Given the description of an element on the screen output the (x, y) to click on. 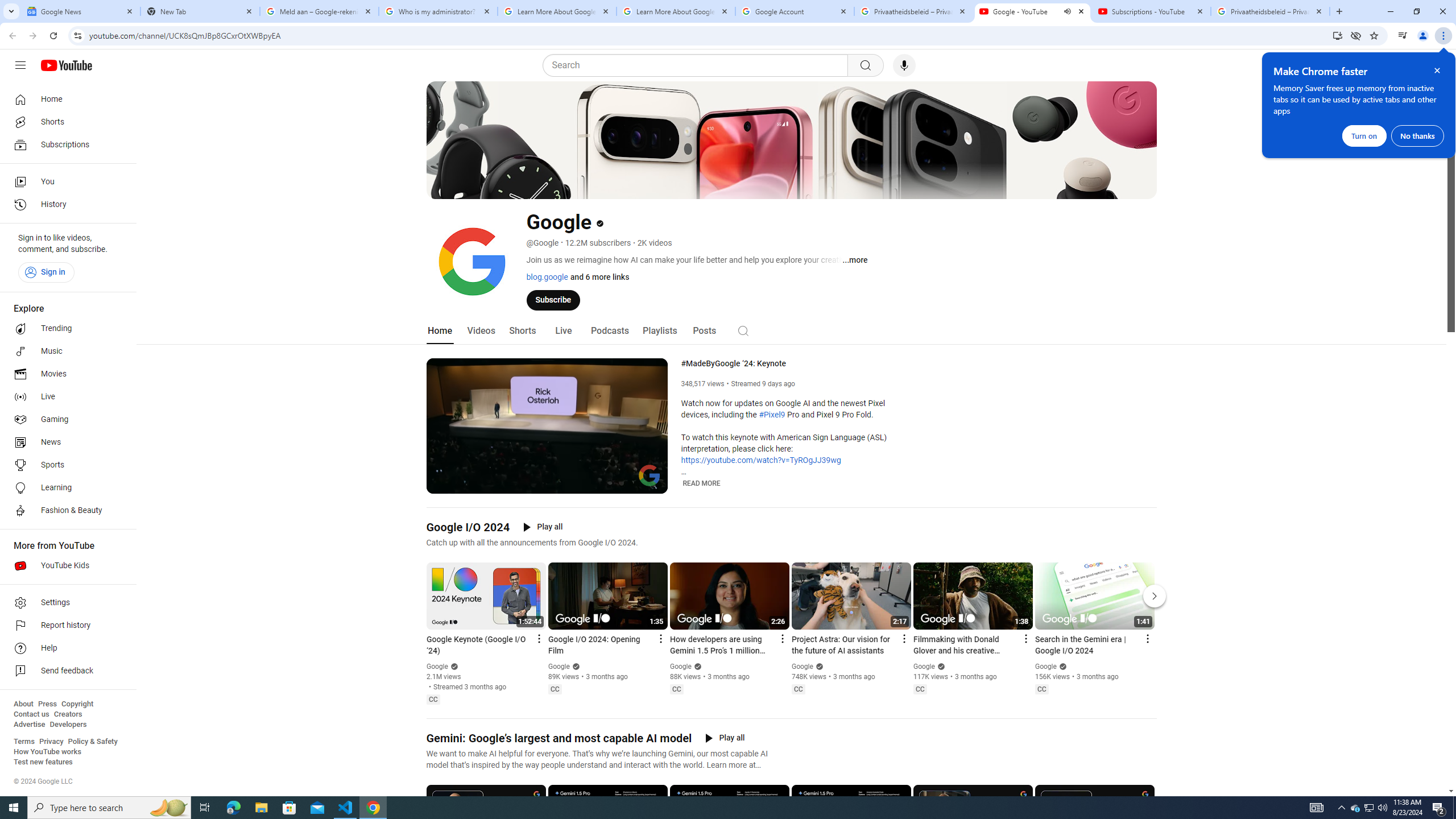
Contact us (31, 714)
Home (64, 99)
Advertise (29, 724)
New Tab (199, 11)
Test new features (42, 761)
Subscriptions - YouTube (1150, 11)
blog.google (546, 276)
Home (440, 330)
Live (64, 396)
